Given the description of an element on the screen output the (x, y) to click on. 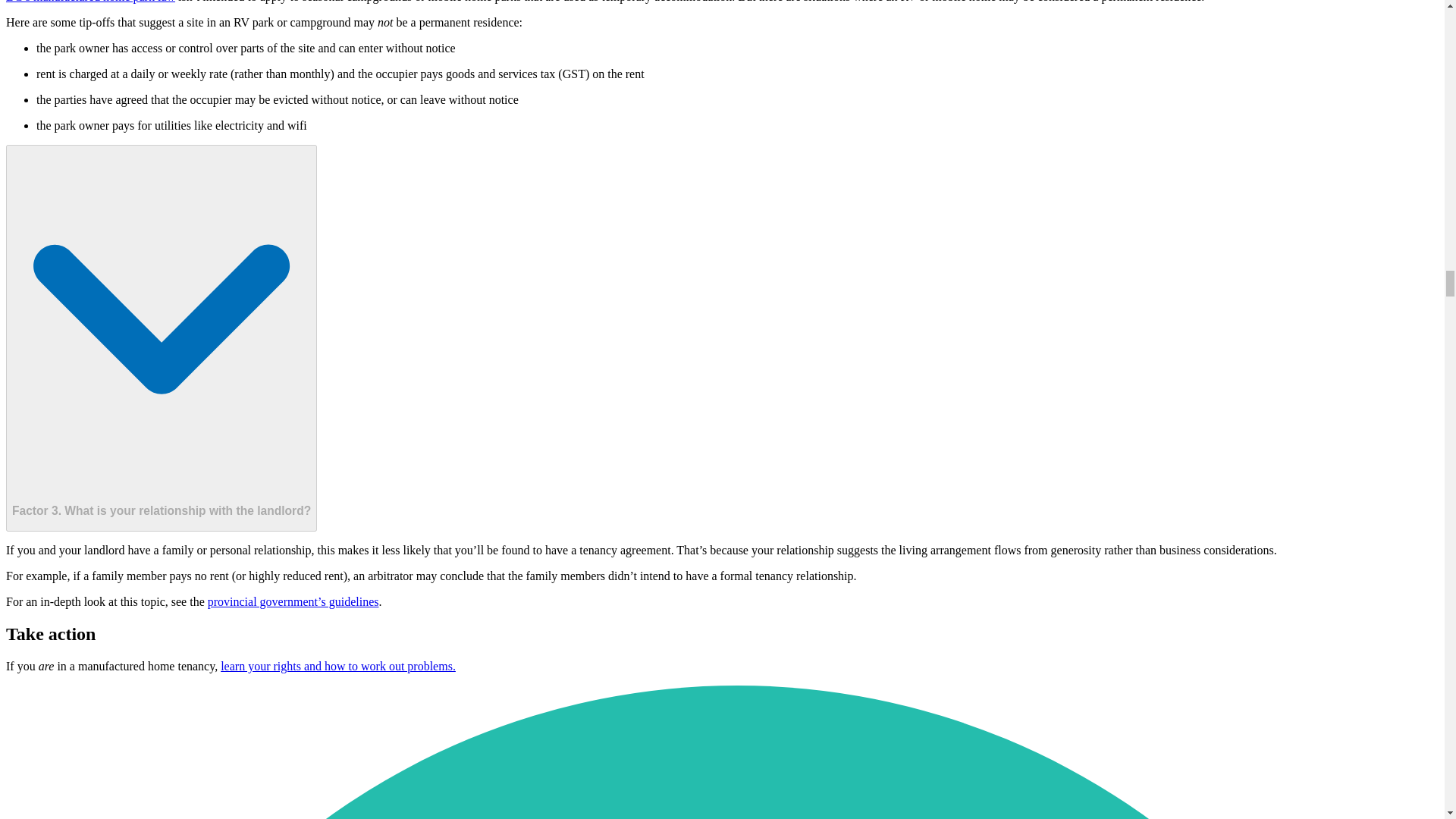
learn your rights and how to work out problems. (338, 666)
Factor 3. What is your relationship with the landlord? (161, 337)
